Given the description of an element on the screen output the (x, y) to click on. 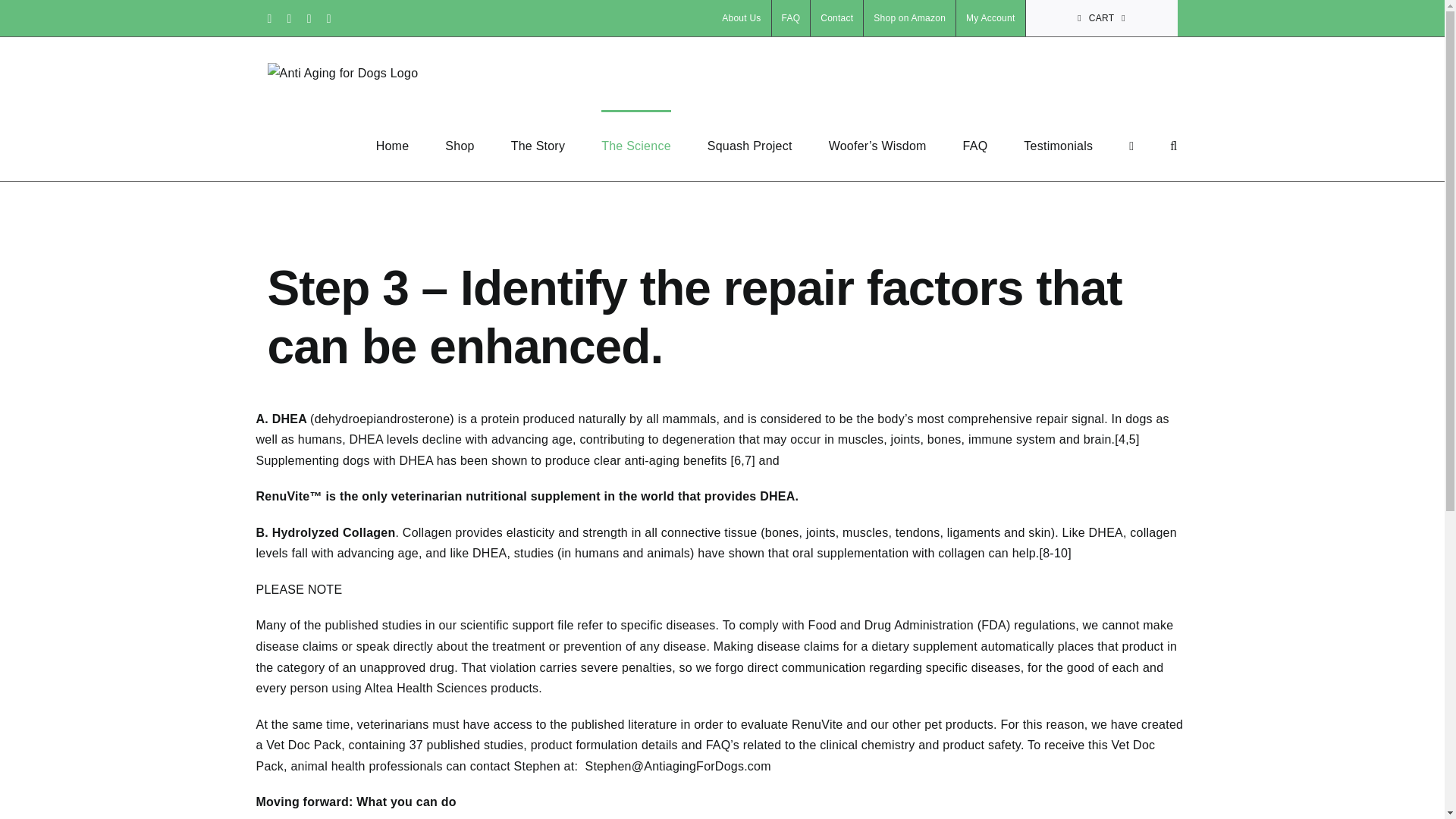
FAQ (790, 18)
About Us (740, 18)
Contact (836, 18)
Shop on Amazon (909, 18)
Testimonials (1058, 144)
Squash Project (749, 144)
CART (1101, 18)
The Science (636, 144)
My Account (990, 18)
Log In (1063, 179)
